Given the description of an element on the screen output the (x, y) to click on. 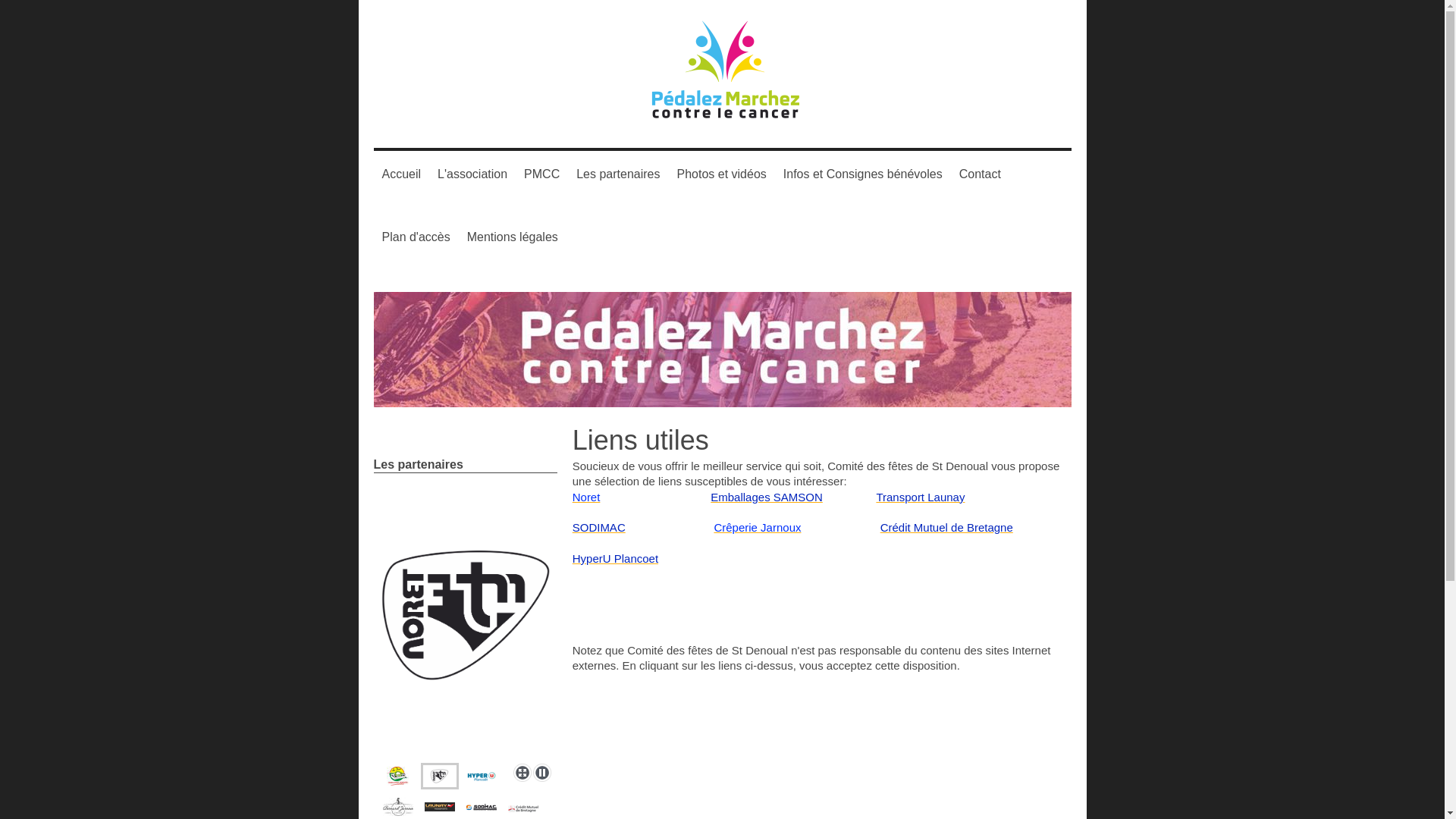
PMCC Element type: text (541, 174)
Emballages SAMSON Element type: text (766, 496)
HyperU Plancoet Element type: text (615, 558)
Noret Element type: text (586, 496)
Transport Launay Element type: text (919, 496)
Les partenaires Element type: text (617, 174)
Contact Element type: text (979, 174)
L'association Element type: text (471, 174)
Accueil Element type: text (401, 174)
SODIMAC Element type: text (598, 526)
